Given the description of an element on the screen output the (x, y) to click on. 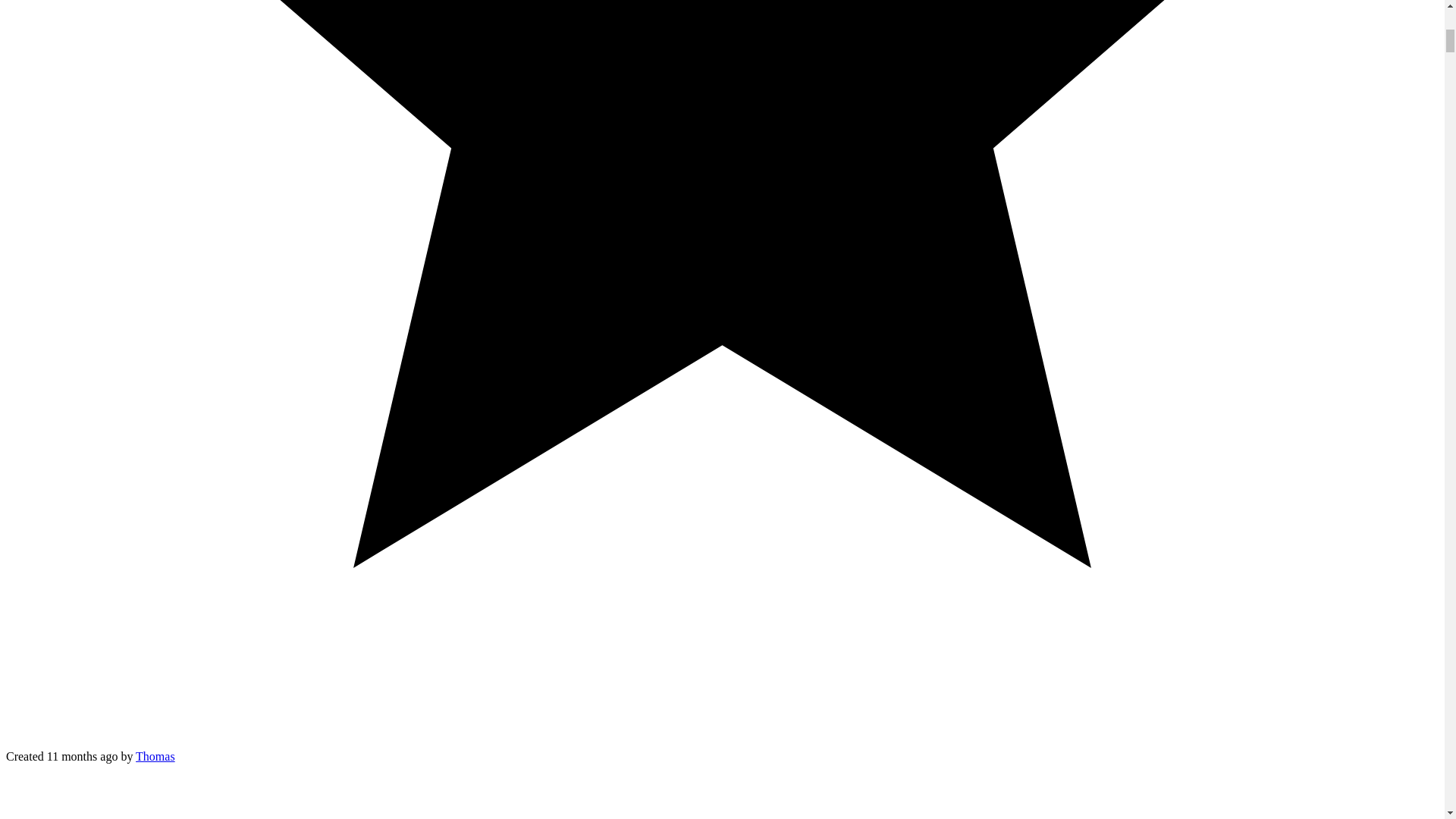
Thomas (154, 756)
Wed, Aug 23, 2023 7:23 AM (81, 756)
